Given the description of an element on the screen output the (x, y) to click on. 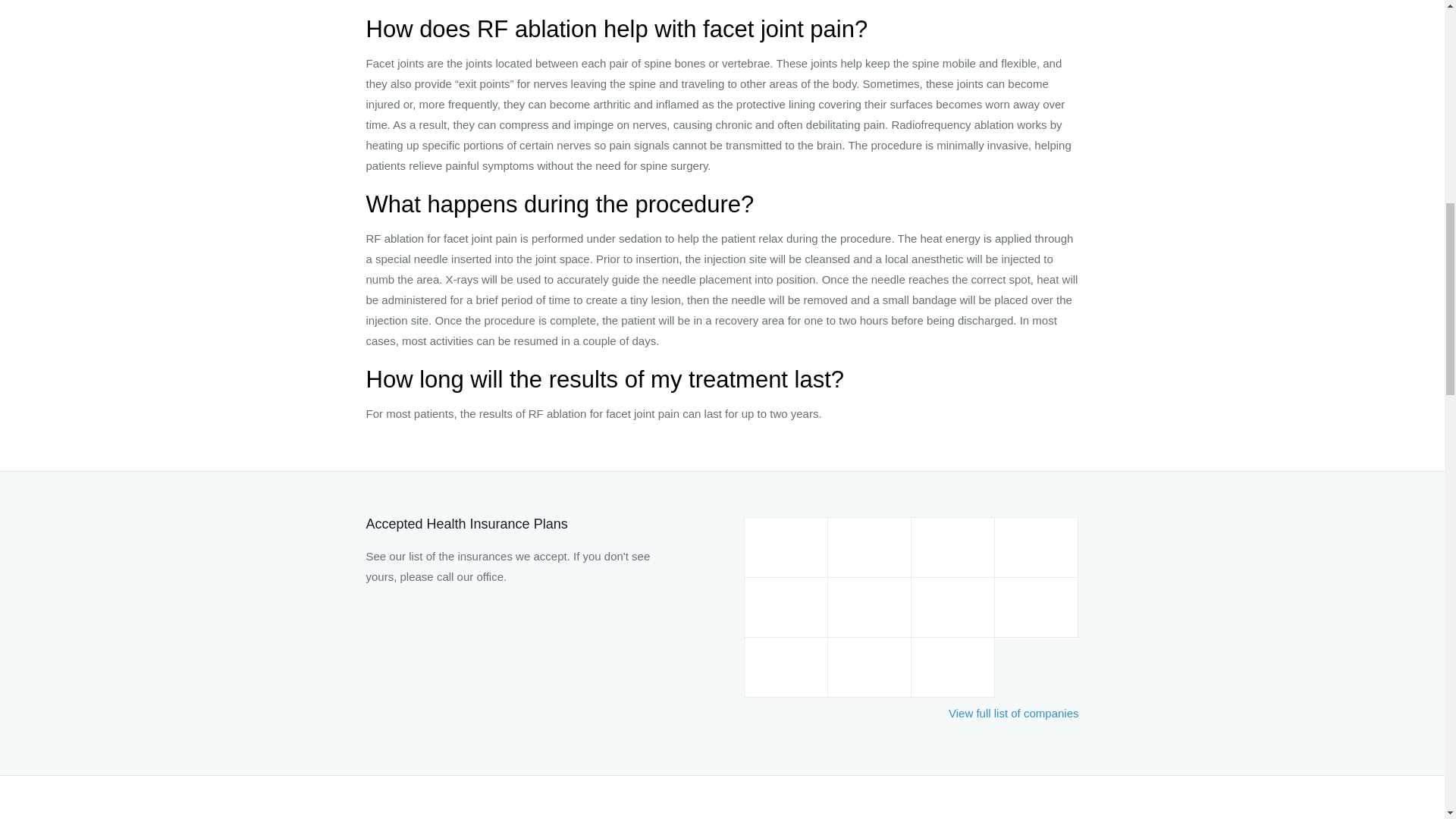
Medicare (952, 607)
1199 National Benefit Fund (786, 547)
BCBS (952, 547)
Oxford United Healthcare (786, 667)
Meritain Health (1036, 607)
Aetna (869, 547)
Cigna (1036, 547)
The Empire Plan (869, 667)
EmblemHealth (786, 607)
View full list of companies (1013, 712)
MagnaCare (869, 607)
United Healthcare (952, 667)
